Given the description of an element on the screen output the (x, y) to click on. 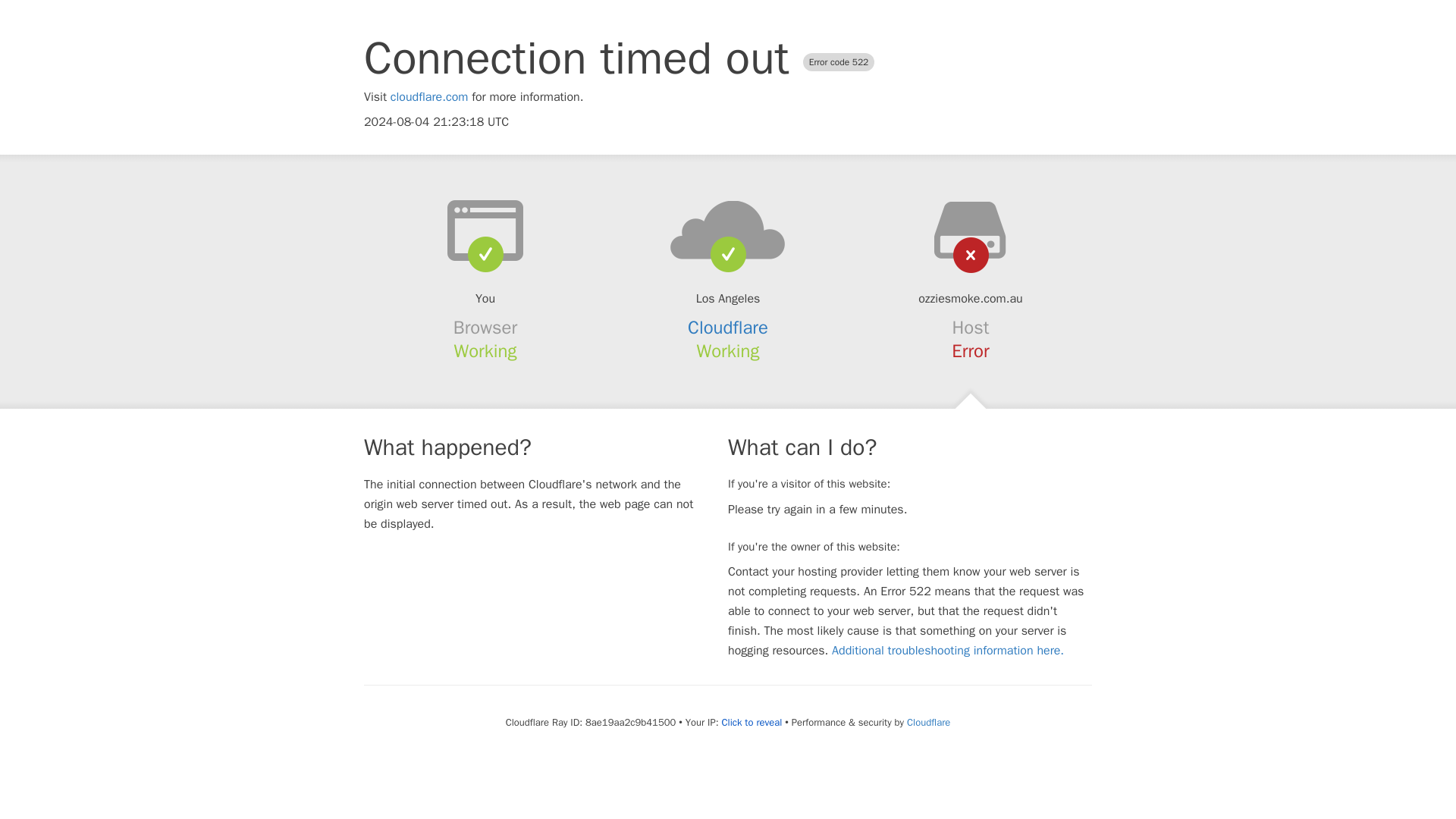
Click to reveal (750, 722)
Cloudflare (928, 721)
cloudflare.com (429, 96)
Cloudflare (727, 327)
Additional troubleshooting information here. (947, 650)
